Given the description of an element on the screen output the (x, y) to click on. 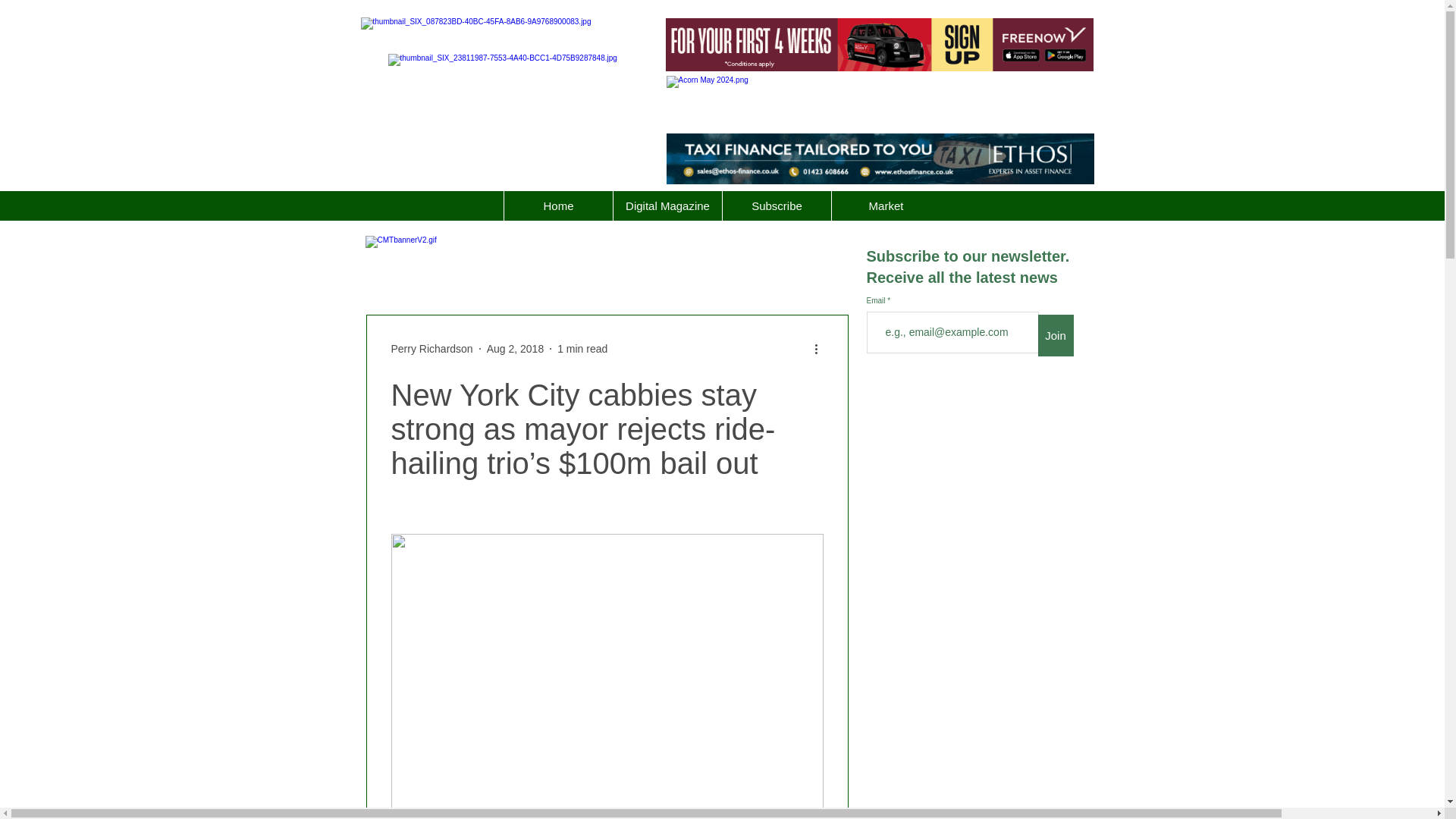
Home (557, 205)
Subscribe (776, 205)
1 min read (582, 348)
Digital Magazine (667, 205)
Perry Richardson (432, 349)
Perry Richardson (432, 349)
Market (885, 205)
Aug 2, 2018 (515, 348)
